Given the description of an element on the screen output the (x, y) to click on. 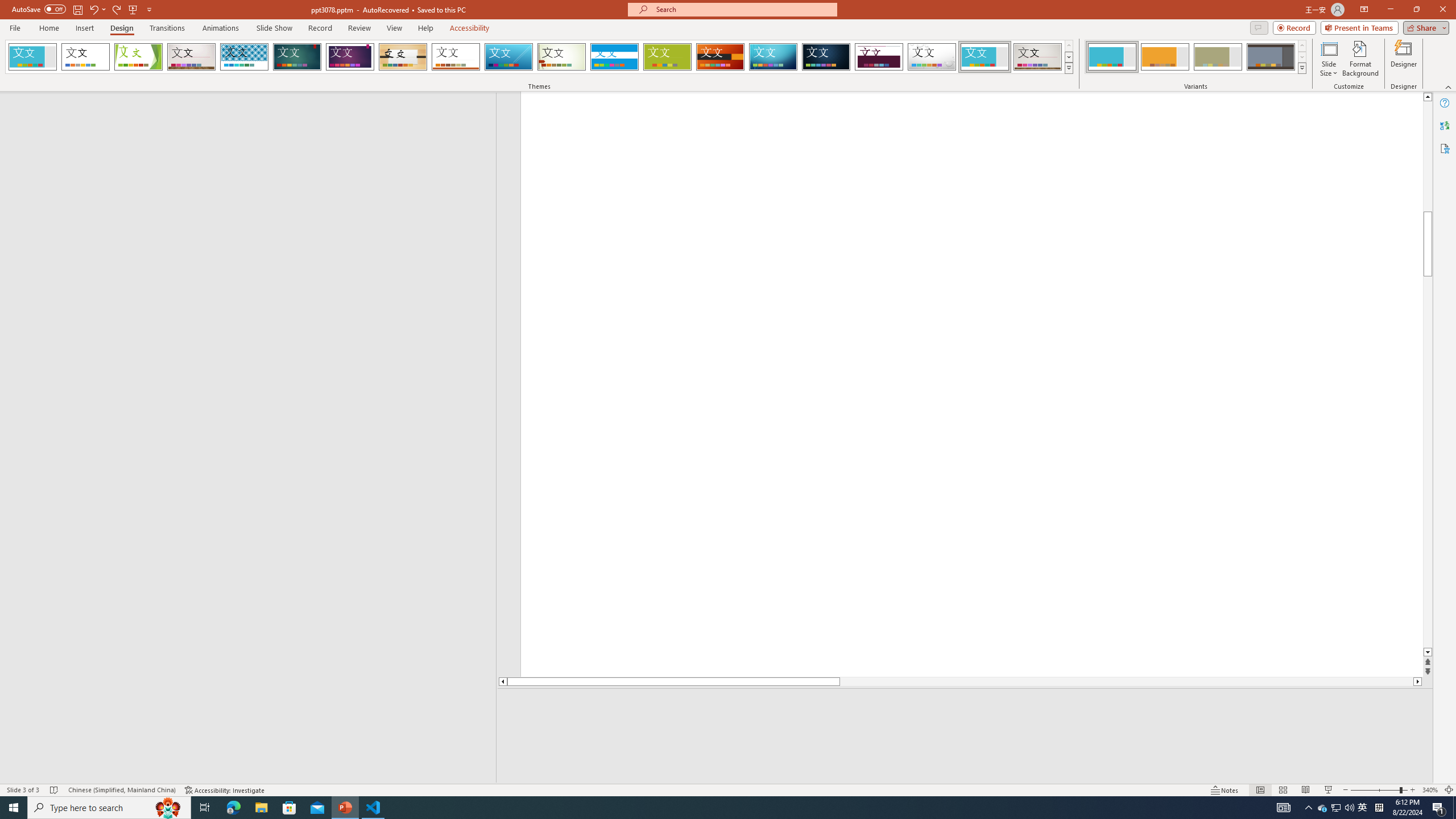
Subtitle TextBox (957, 569)
Office Theme (85, 56)
Slide Size (1328, 58)
Frame Variant 1 (1112, 56)
